Given the description of an element on the screen output the (x, y) to click on. 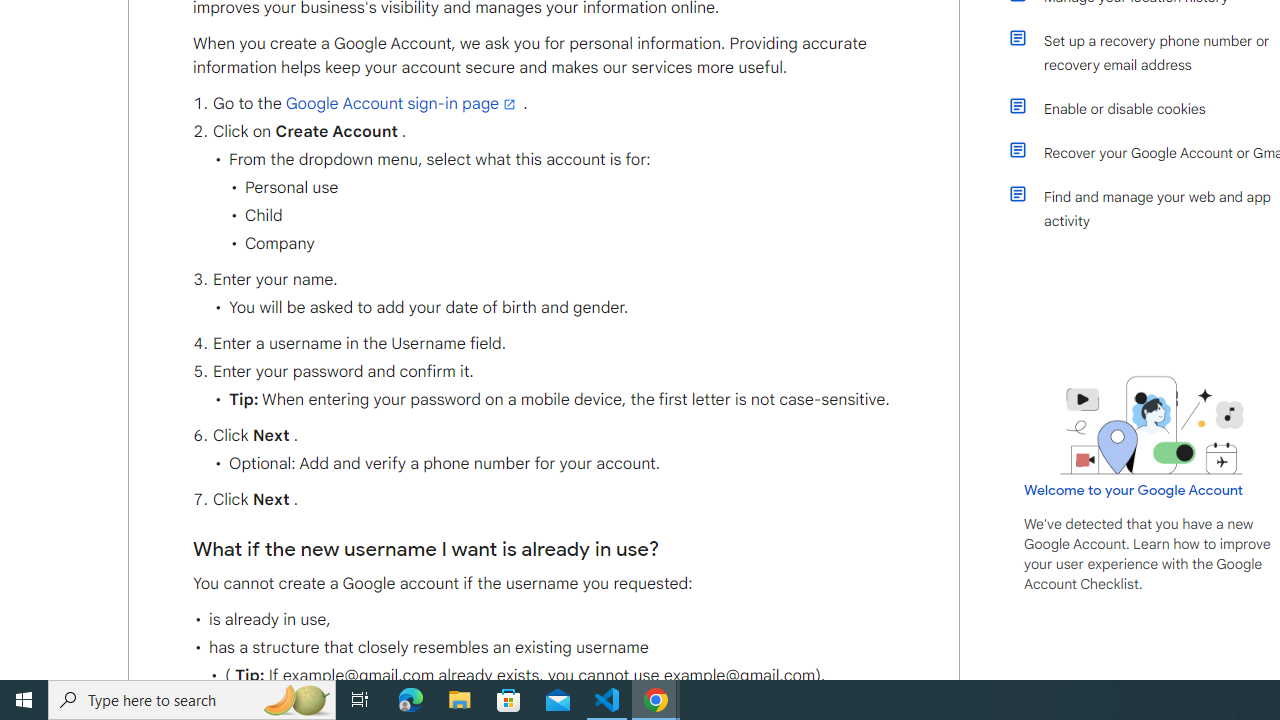
Google Account sign-in page (402, 103)
Learning Center home page image (1152, 425)
Welcome to your Google Account (1134, 489)
